Given the description of an element on the screen output the (x, y) to click on. 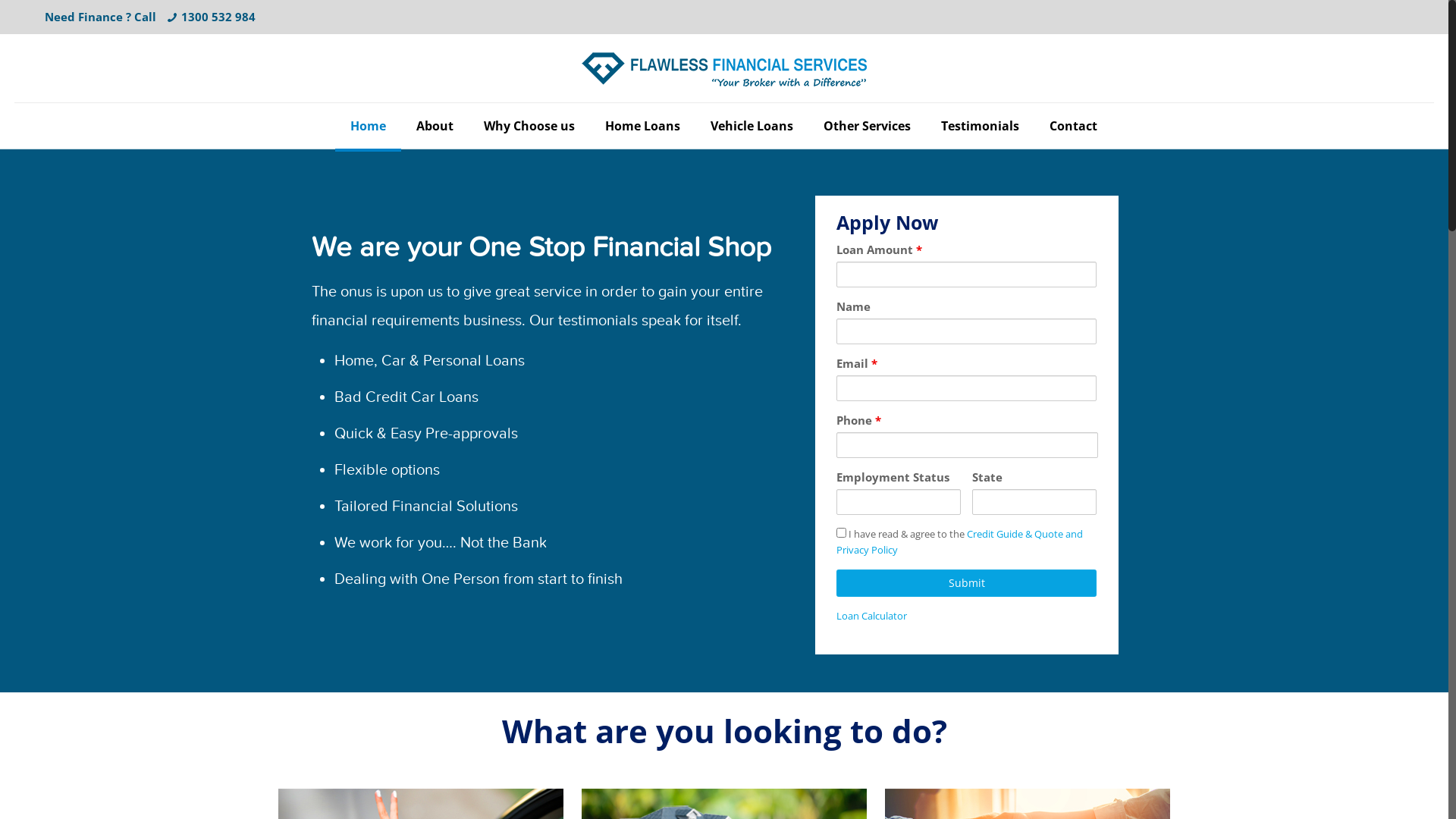
Flawless Financial Services Element type: hover (723, 68)
Contact Element type: text (1073, 125)
About Element type: text (434, 125)
Other Services Element type: text (866, 125)
Loan Calculator Element type: text (871, 615)
Vehicle Loans Element type: text (751, 125)
Credit Guide & Quote and Privacy Policy Element type: text (959, 541)
Home Element type: text (368, 125)
Submit Element type: text (966, 582)
1300 532 984 Element type: text (218, 16)
Home Loans Element type: text (642, 125)
Why Choose us Element type: text (528, 125)
Testimonials Element type: text (979, 125)
